Given the description of an element on the screen output the (x, y) to click on. 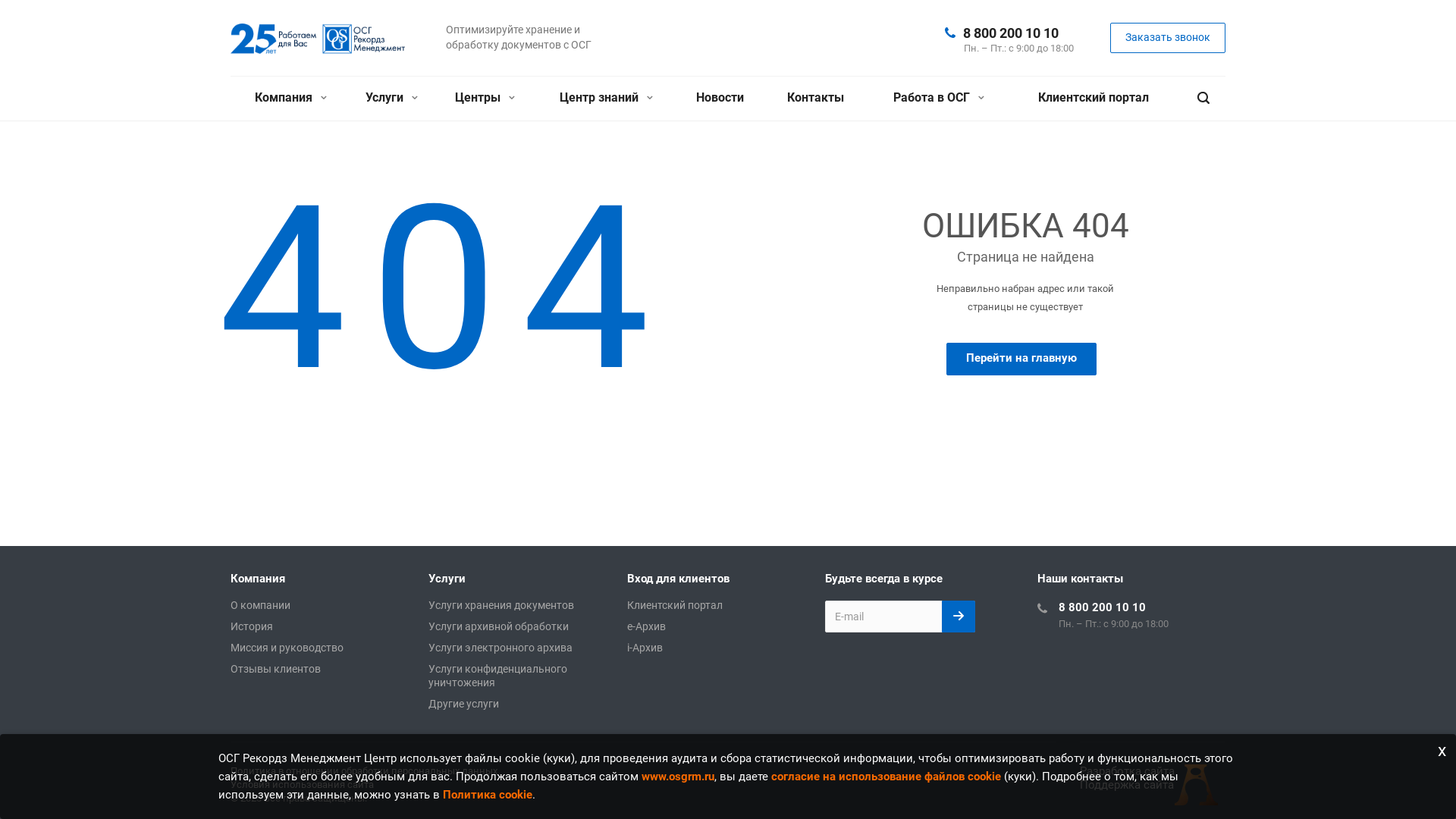
8 800 200 10 10 Element type: text (1010, 32)
www.osgrm.ru Element type: text (677, 776)
8 800 200 10 10 Element type: text (1101, 607)
x Element type: text (1441, 750)
